Given the description of an element on the screen output the (x, y) to click on. 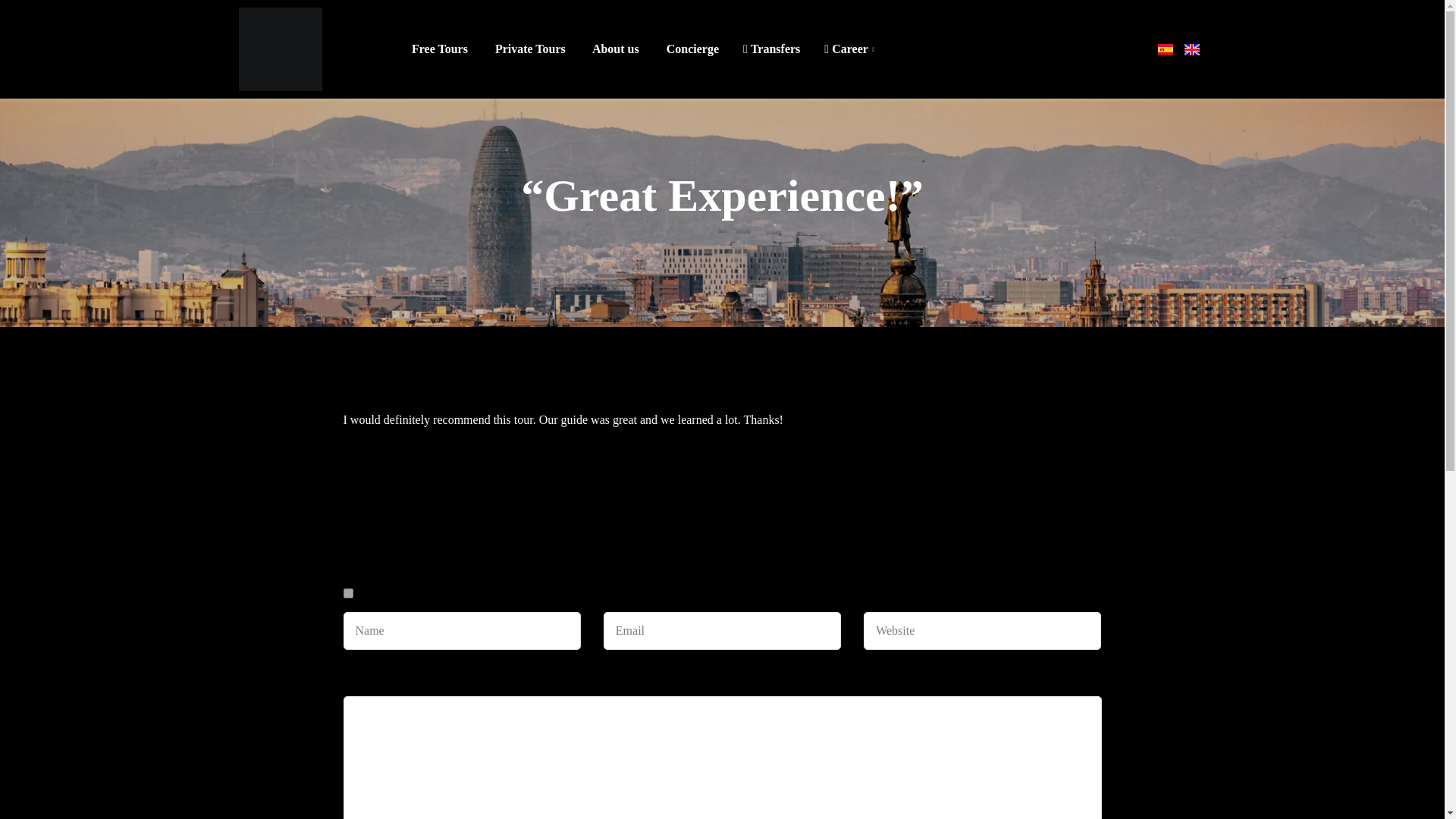
 Career (849, 49)
Home (626, 236)
Testimonial (681, 236)
 Transfers (771, 49)
 Free Tours (438, 49)
 Concierge (690, 49)
 About us (614, 49)
 Private Tours (529, 49)
Home (626, 236)
